Given the description of an element on the screen output the (x, y) to click on. 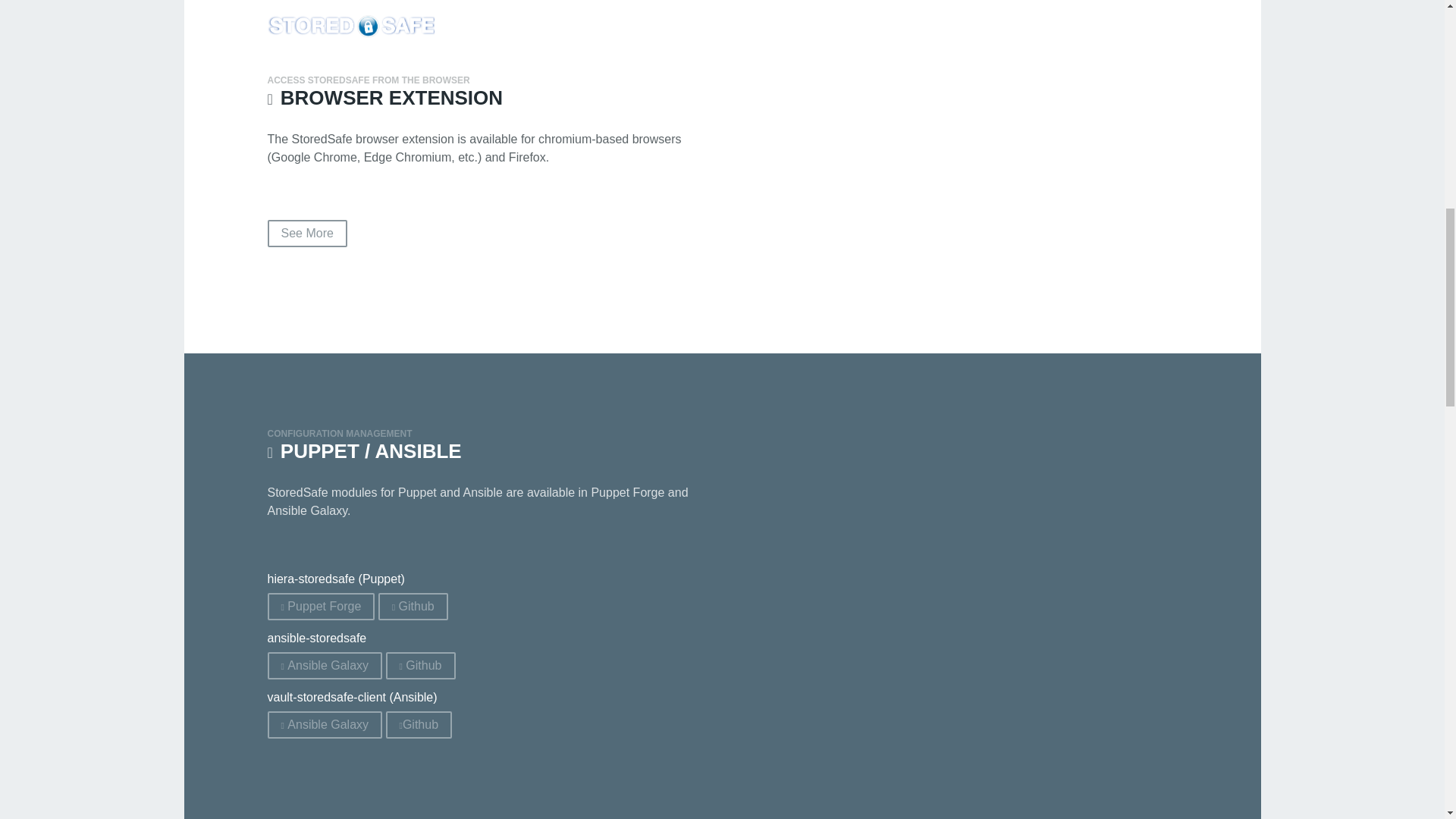
Puppet Forge (320, 605)
Ansible Galaxy (323, 665)
Ansible Galaxy (323, 724)
Github (418, 724)
Github (420, 665)
Github (413, 605)
See More (306, 233)
